Given the description of an element on the screen output the (x, y) to click on. 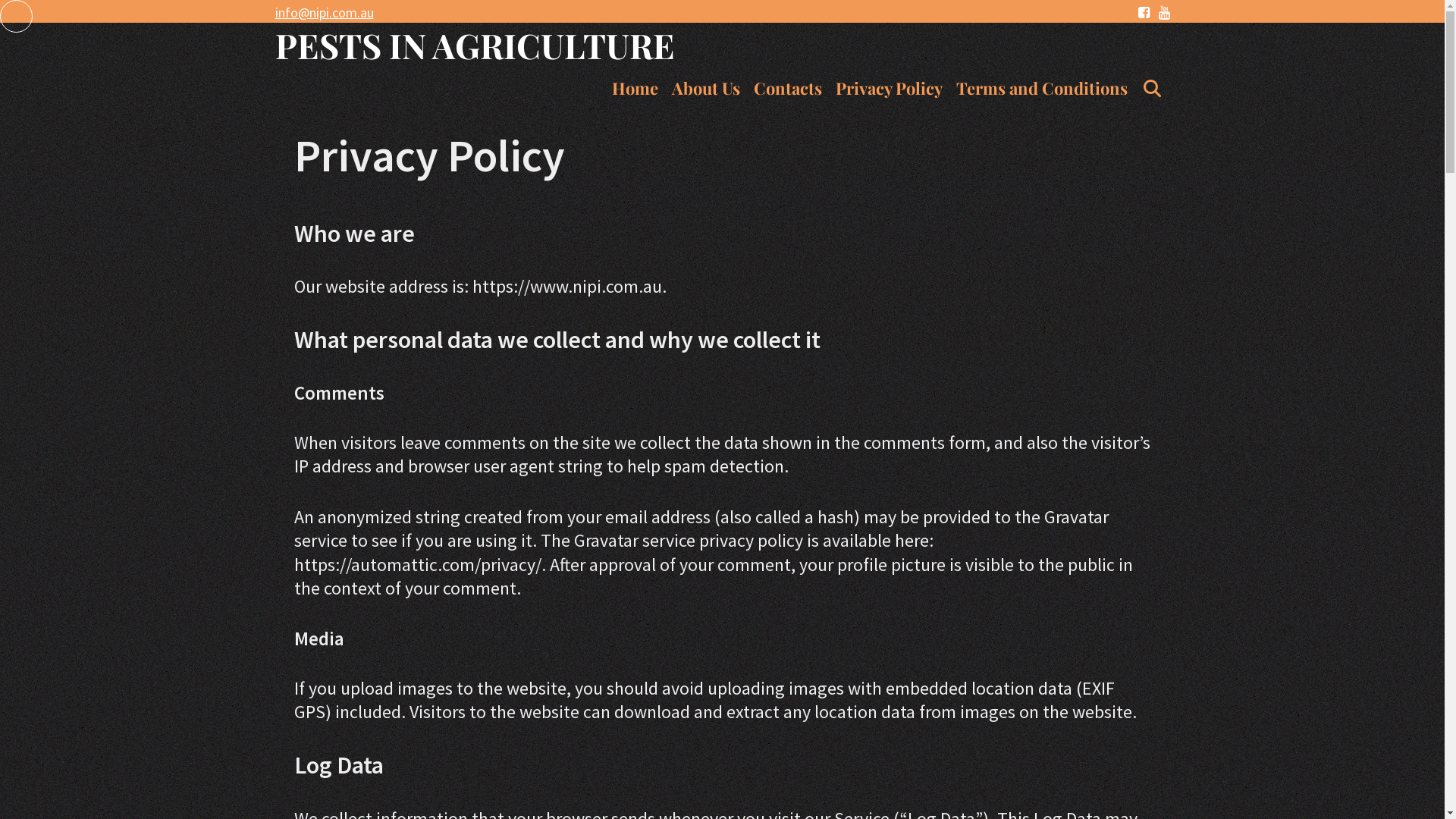
Search Element type: text (282, 20)
Search Element type: text (1151, 88)
Contacts Element type: text (787, 88)
About Us Element type: text (705, 88)
Home Element type: text (635, 88)
info@nipi.com.au Element type: text (323, 12)
Terms and Conditions Element type: text (1041, 88)
Privacy Policy Element type: text (888, 88)
PESTS IN AGRICULTURE Element type: text (474, 44)
